Given the description of an element on the screen output the (x, y) to click on. 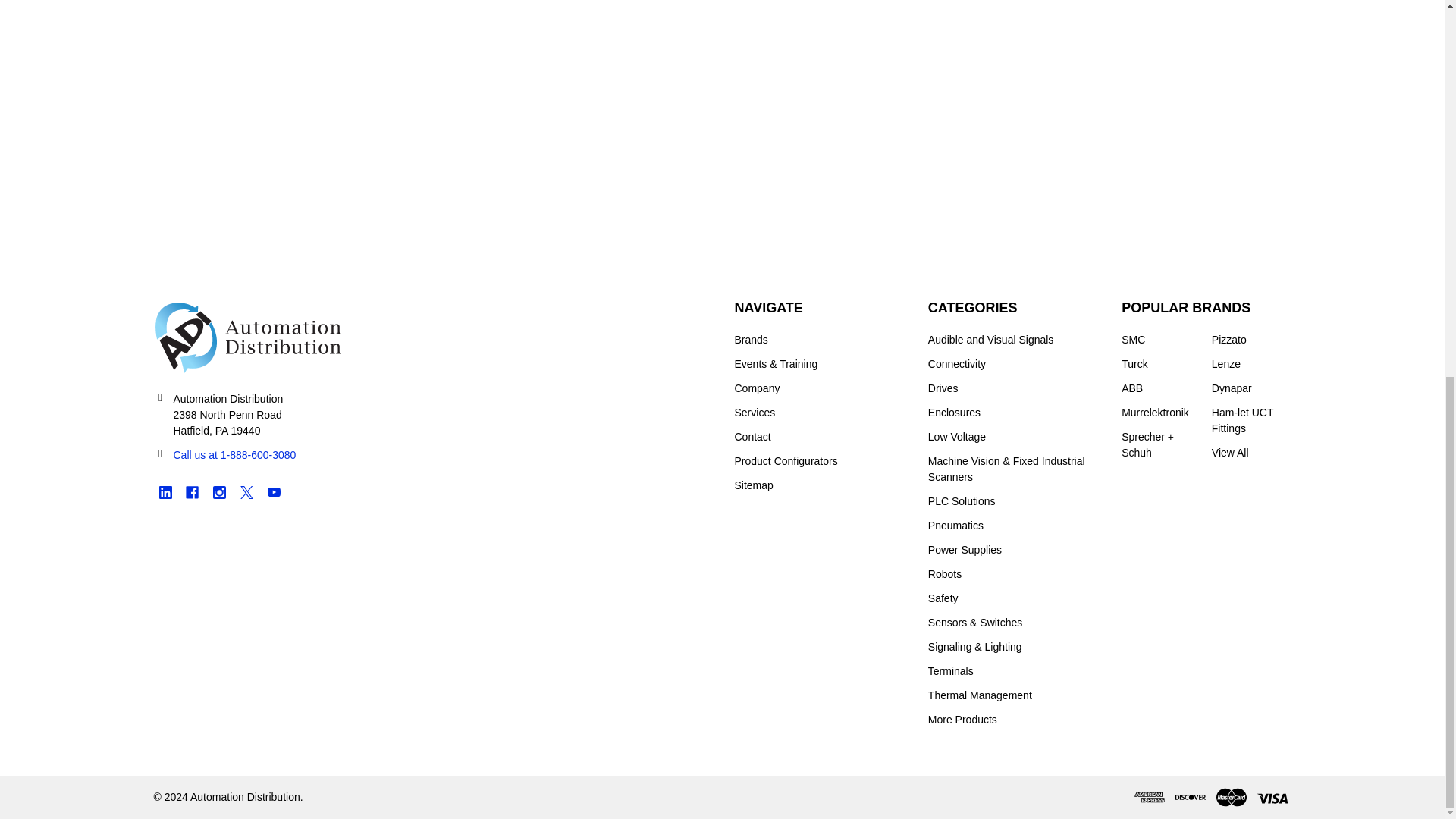
Linkedin (164, 492)
Instagram (219, 492)
Automation Distribution (247, 337)
X (246, 492)
Youtube (273, 492)
Facebook (191, 492)
